Given the description of an element on the screen output the (x, y) to click on. 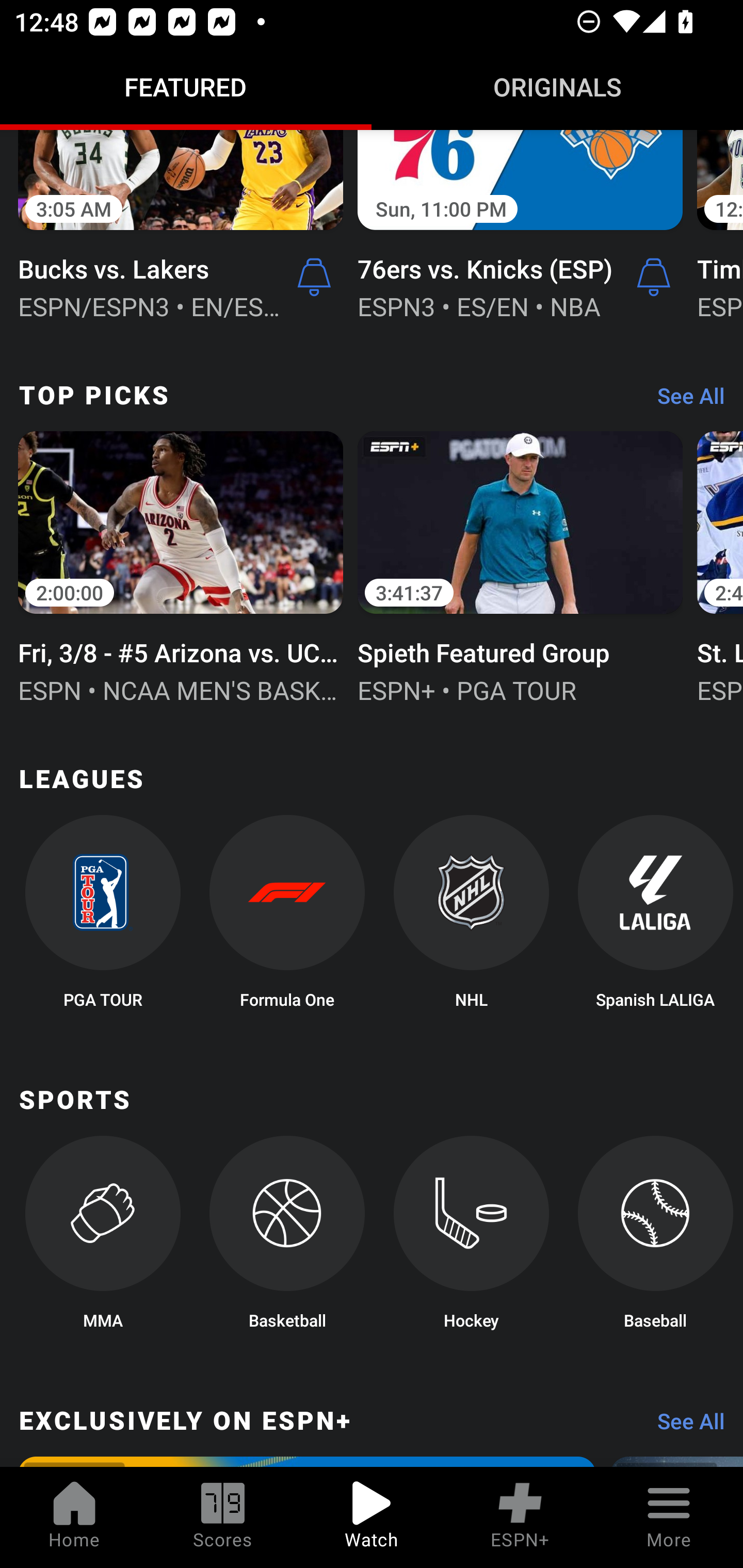
Originals ORIGINALS (557, 86)
Alerts (314, 276)
Alerts (653, 276)
See All (683, 400)
3:41:37 Spieth Featured Group ESPN+ • PGA TOUR (519, 565)
PGA TOUR (102, 917)
Formula One (286, 917)
NHL (471, 917)
Spanish LALIGA (655, 917)
MMA (102, 1238)
Basketball (286, 1238)
Hockey (471, 1238)
Baseball (655, 1238)
See All (683, 1425)
Home (74, 1517)
Scores (222, 1517)
ESPN+ (519, 1517)
More (668, 1517)
